Given the description of an element on the screen output the (x, y) to click on. 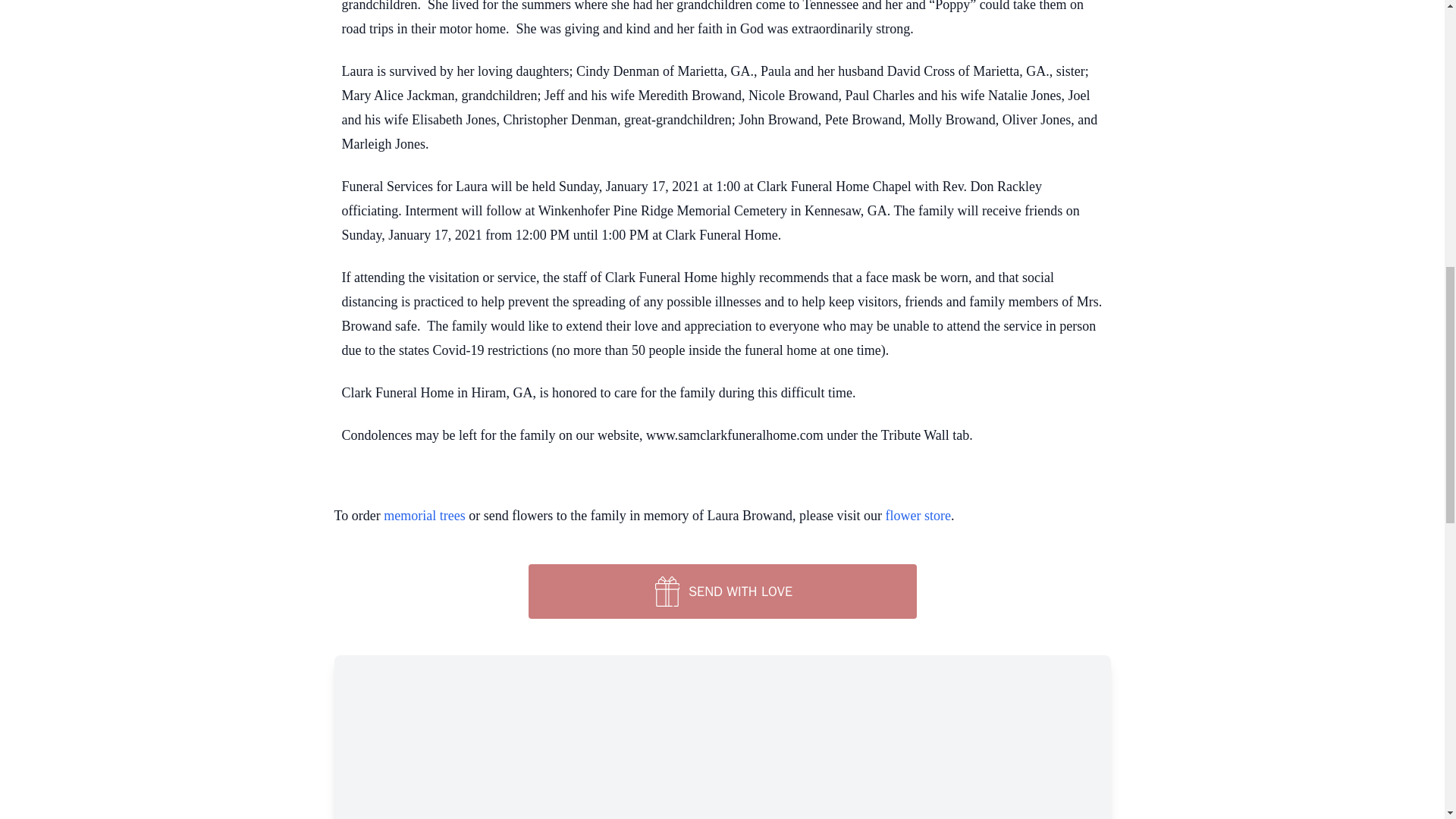
SEND WITH LOVE (721, 591)
memorial trees (424, 515)
flower store (917, 515)
